Given the description of an element on the screen output the (x, y) to click on. 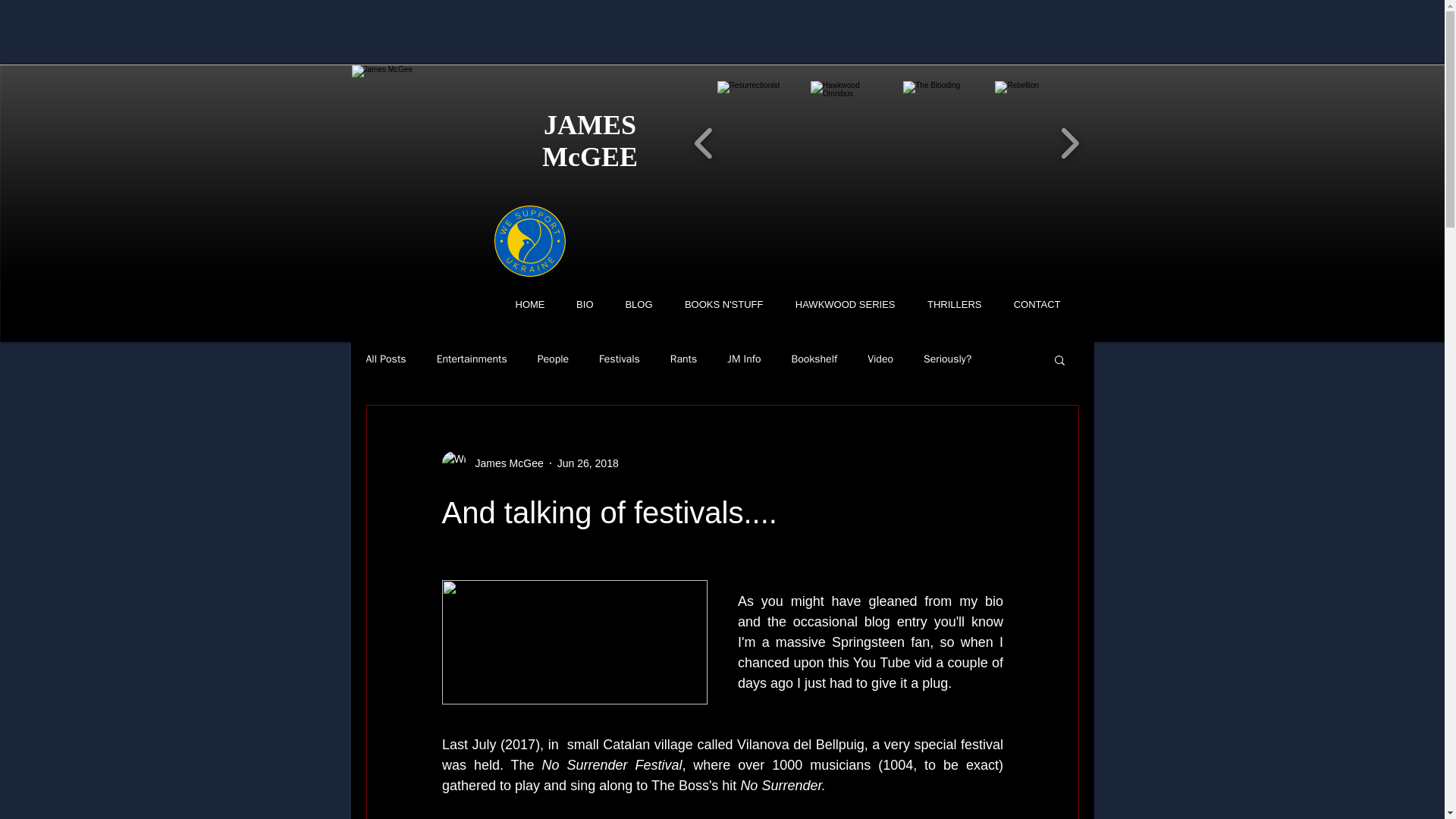
BOOKS N'STUFF (718, 304)
BIO (580, 304)
Video (880, 359)
Seriously? (947, 359)
BLOG (634, 304)
THRILLERS (949, 304)
Jun 26, 2018 (587, 462)
Festivals (619, 359)
HAWKWOOD SERIES (840, 304)
HOME (525, 304)
